Given the description of an element on the screen output the (x, y) to click on. 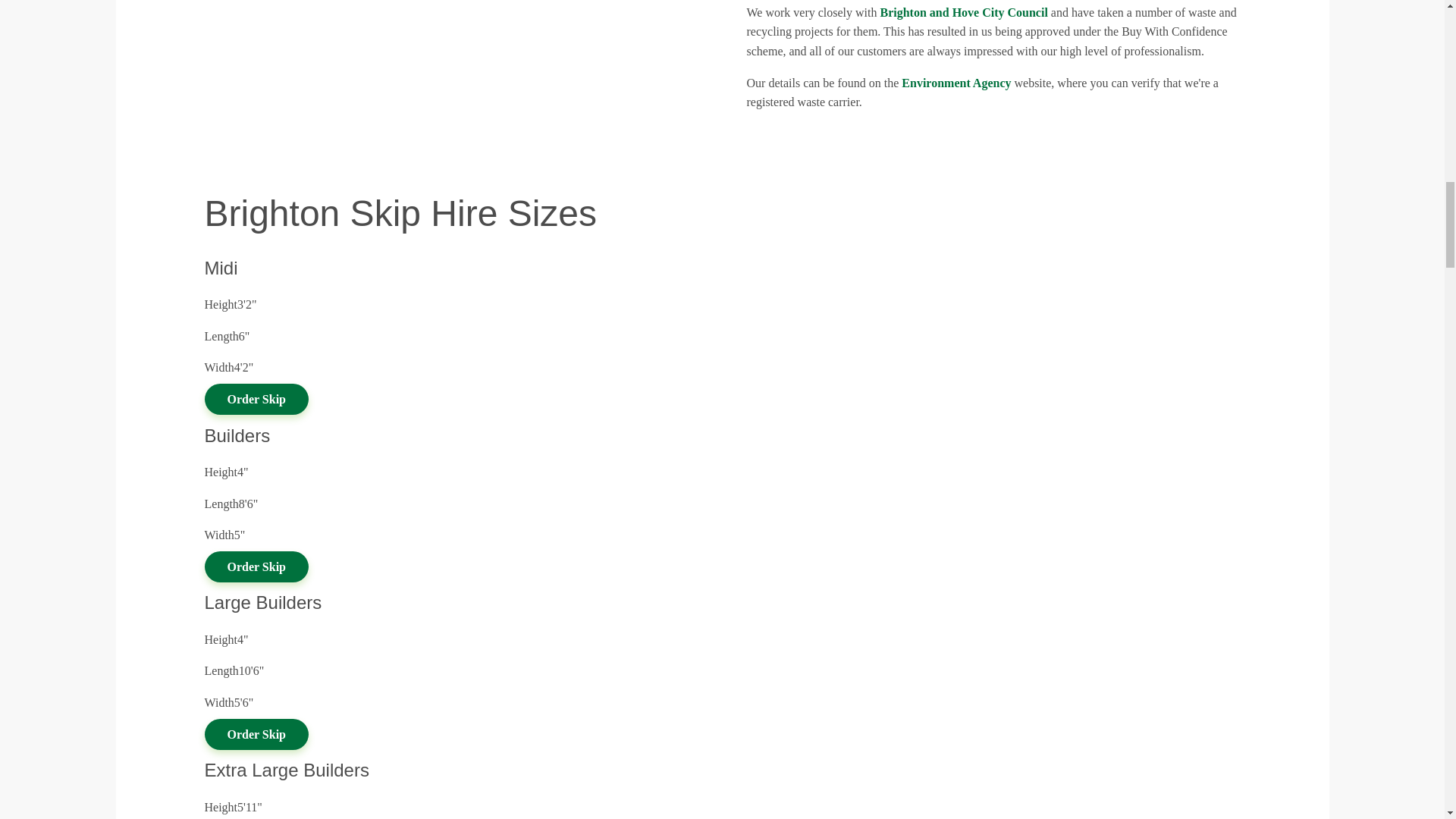
Environment Agency (955, 82)
Brighton and Hove City Council (962, 11)
Order Skip (256, 566)
Order Skip (256, 734)
Order Skip (256, 399)
